Given the description of an element on the screen output the (x, y) to click on. 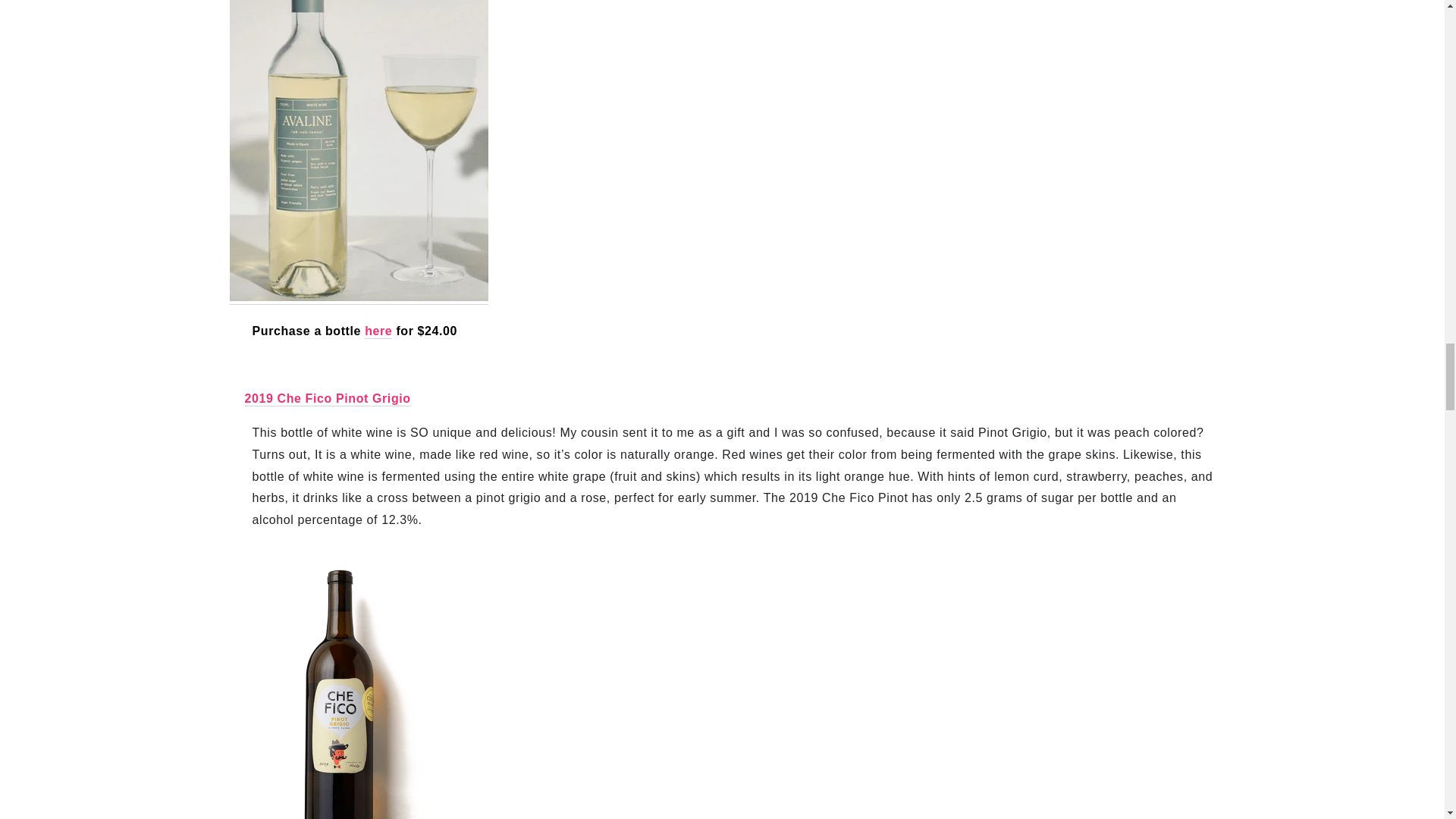
Avaline Wine- Pinot Grigio (357, 297)
